Given the description of an element on the screen output the (x, y) to click on. 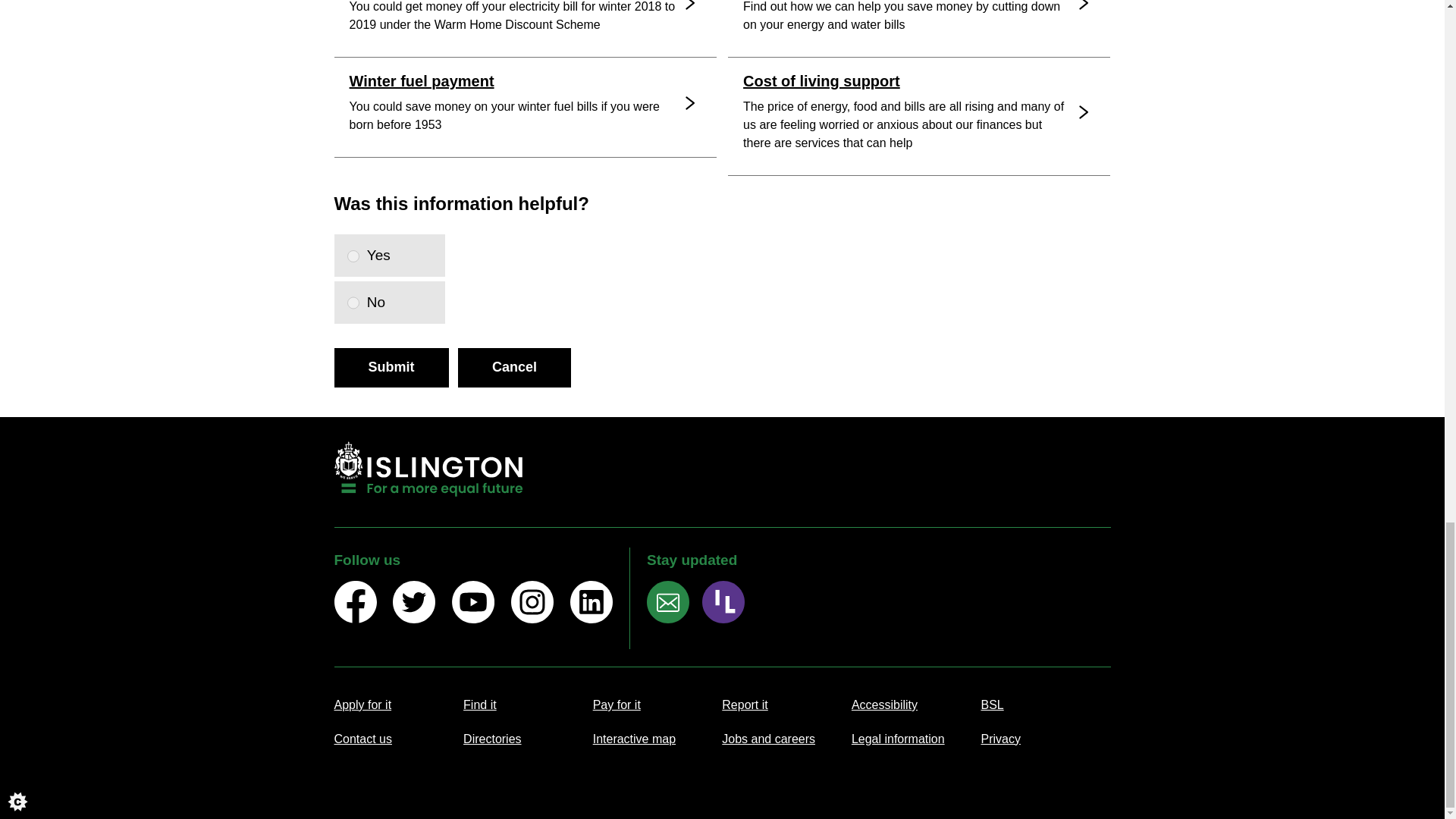
Yes (353, 256)
No (353, 302)
